Given the description of an element on the screen output the (x, y) to click on. 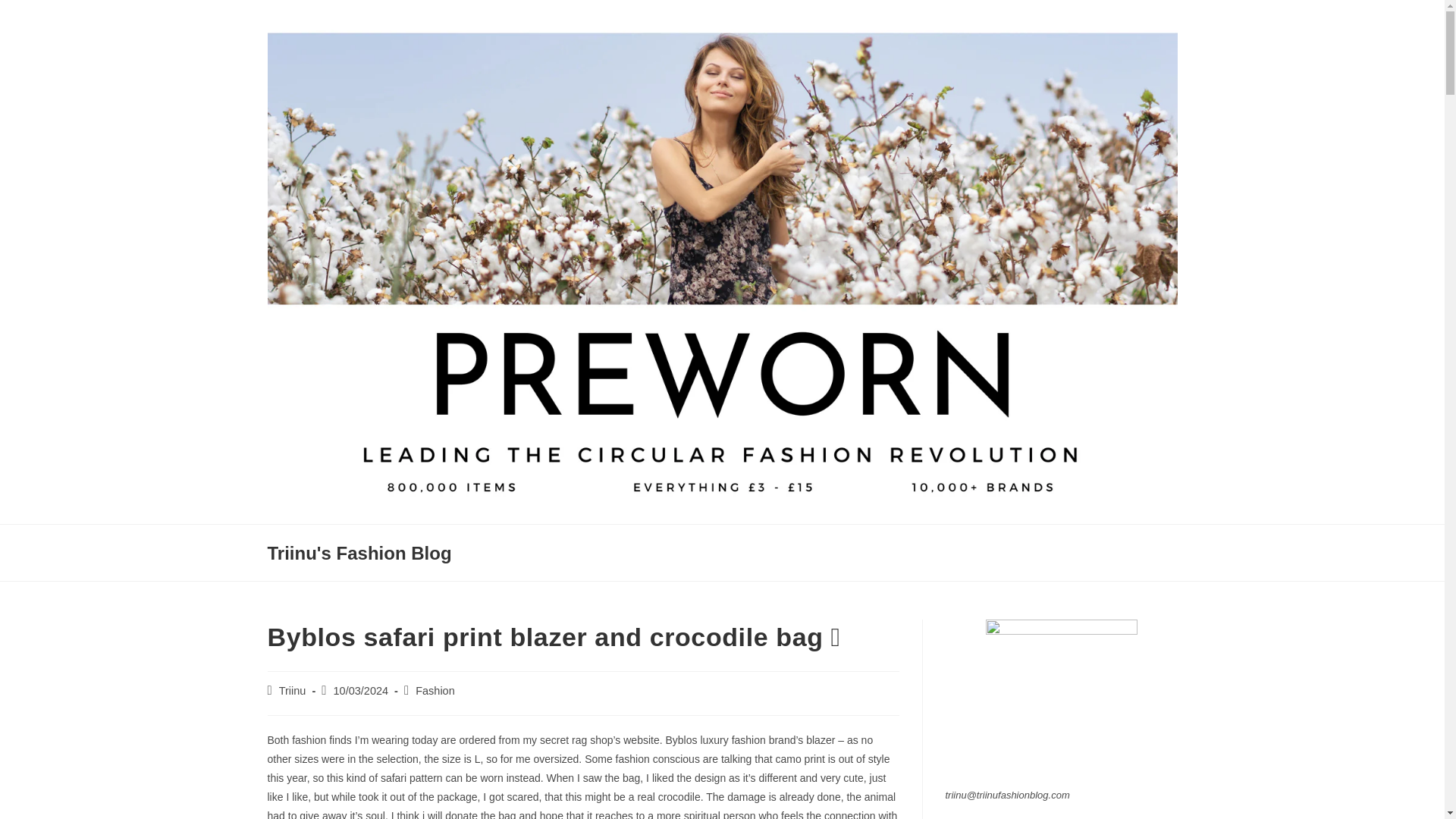
Posts by Triinu (292, 690)
Triinu'S Fashion Blog (358, 552)
Fashion (434, 690)
Triinu (292, 690)
